Given the description of an element on the screen output the (x, y) to click on. 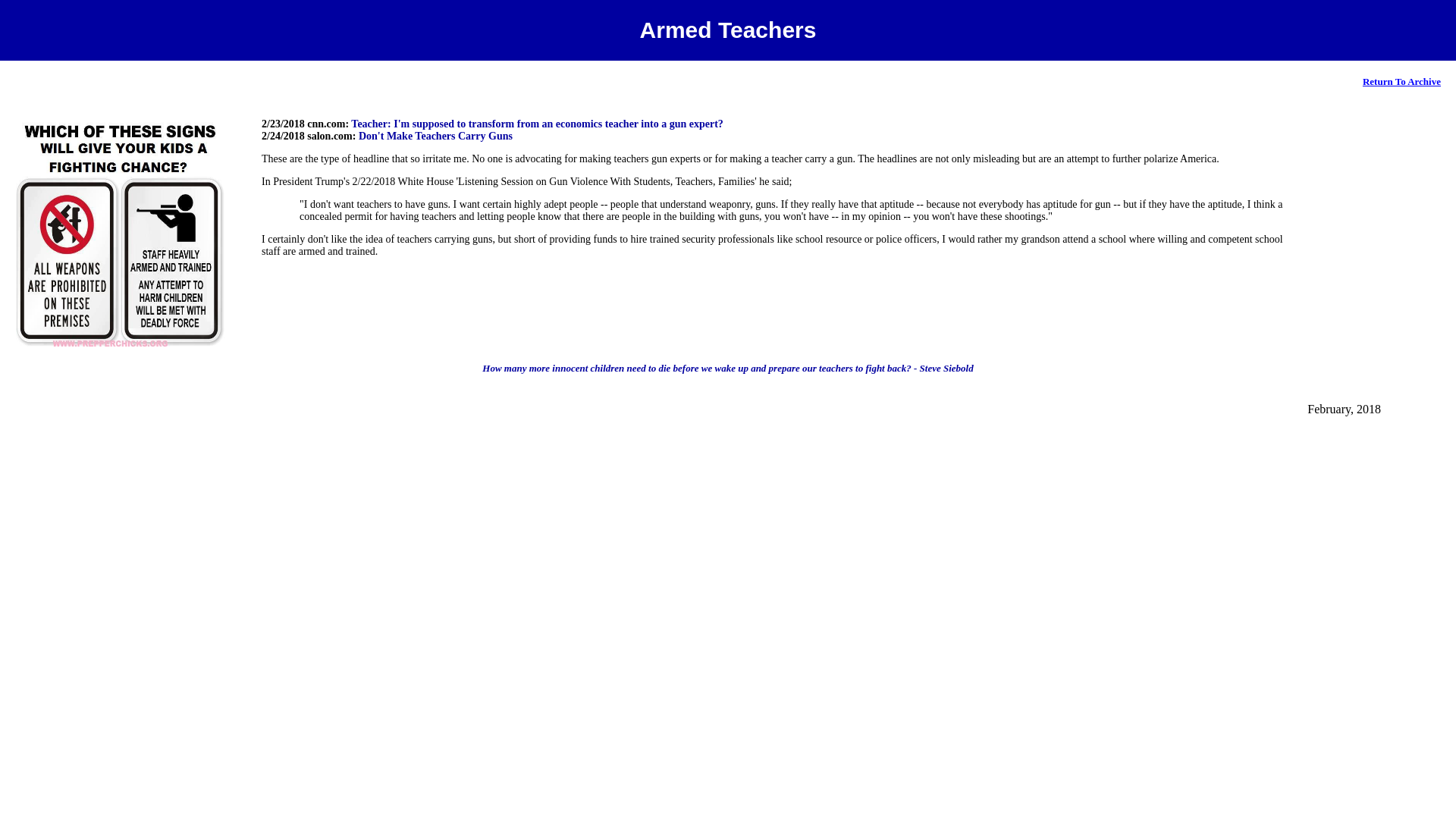
Return To Archive (1401, 80)
